Given the description of an element on the screen output the (x, y) to click on. 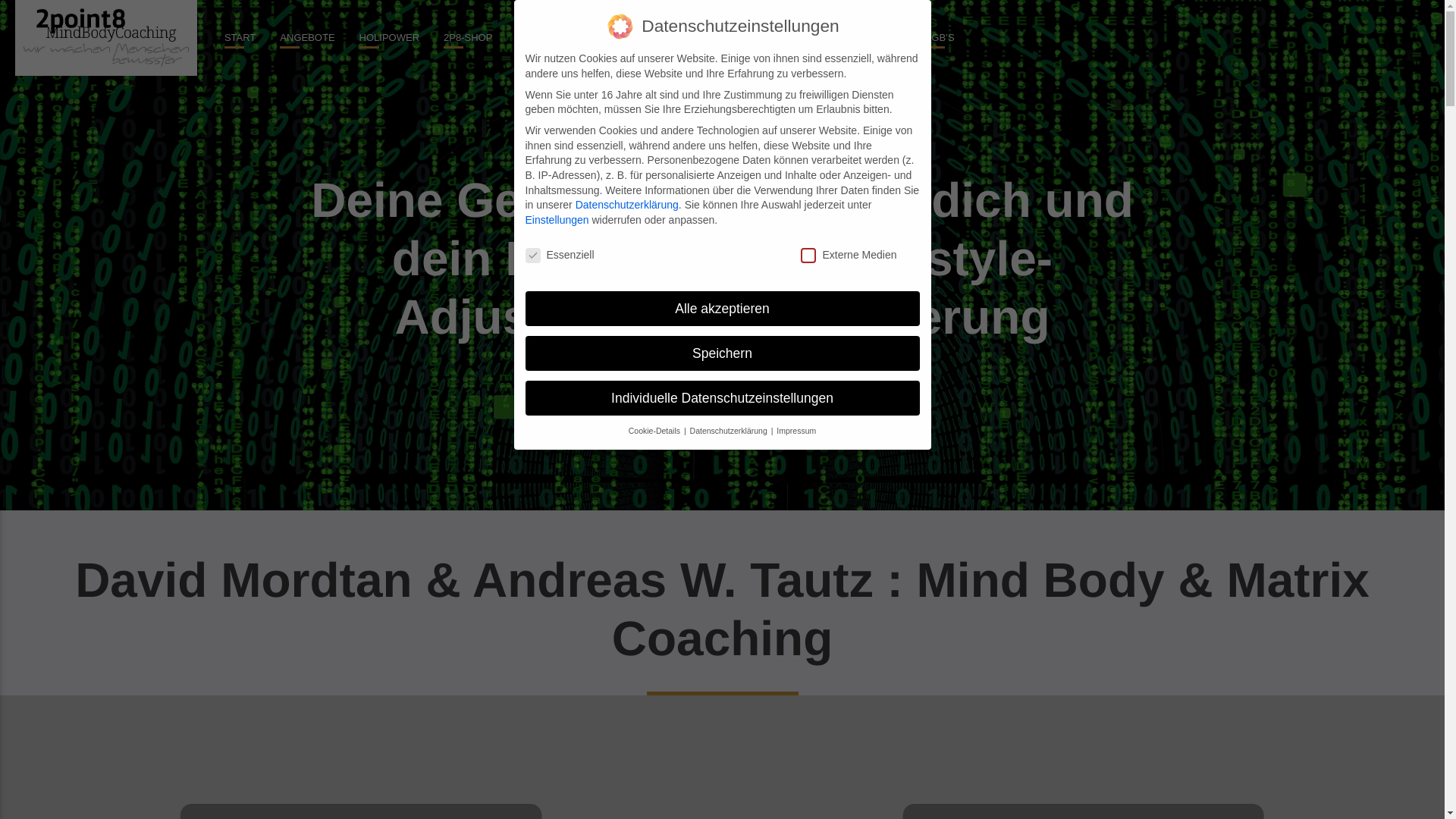
START Element type: text (239, 37)
WIR 2 Element type: text (607, 37)
Einstellungen Element type: text (556, 219)
2P8-SHOP Element type: text (467, 37)
CONTACT Element type: text (877, 37)
Individuelle Datenschutzeinstellungen Element type: text (721, 397)
Impressum Element type: text (795, 430)
ANGEBOTE Element type: text (306, 37)
FREE4YOU Element type: text (542, 37)
Cookie-Details Element type: text (655, 430)
IMMUNSYSTEM Element type: text (792, 37)
Speichern Element type: text (721, 352)
HOLIPOWER Element type: text (389, 37)
Alle akzeptieren Element type: text (721, 308)
